Given the description of an element on the screen output the (x, y) to click on. 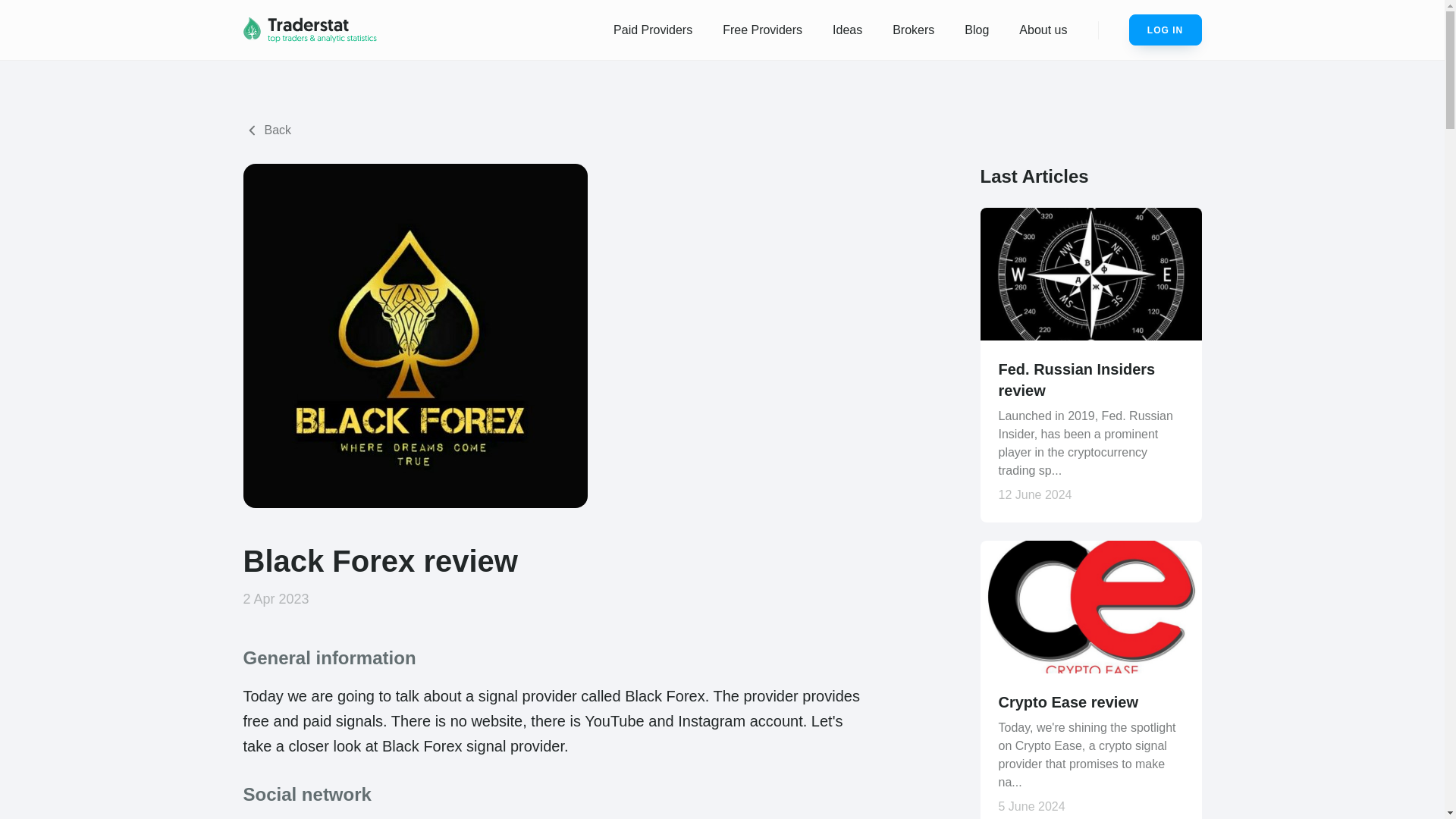
LOG IN (1164, 29)
Blog (976, 30)
Brokers (913, 30)
About us (1042, 30)
Paid Providers (652, 30)
Free Providers (761, 30)
Ideas (846, 30)
Back (267, 130)
